Given the description of an element on the screen output the (x, y) to click on. 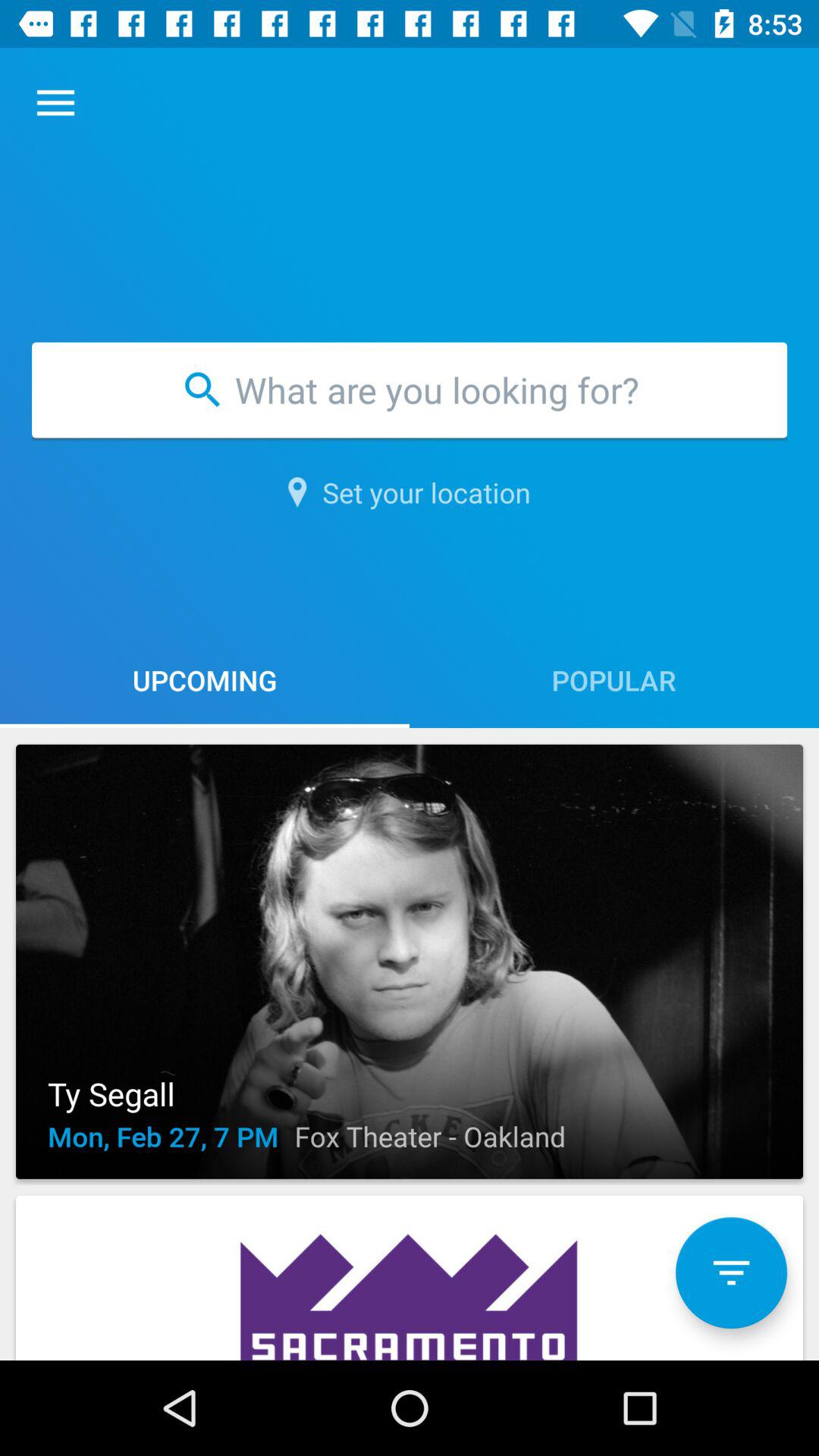
turn off the set your location item (409, 492)
